Given the description of an element on the screen output the (x, y) to click on. 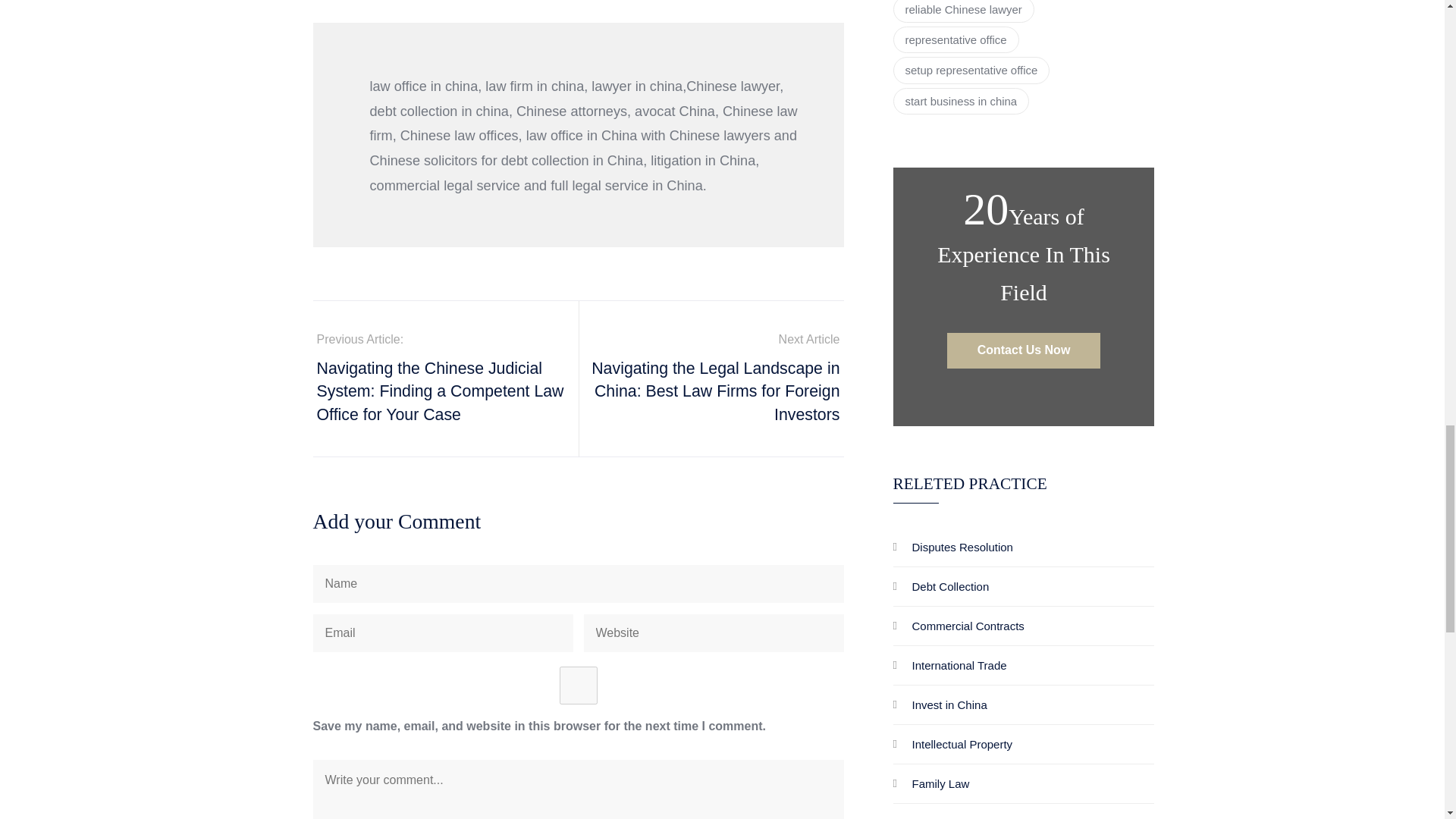
yes (578, 685)
